Given the description of an element on the screen output the (x, y) to click on. 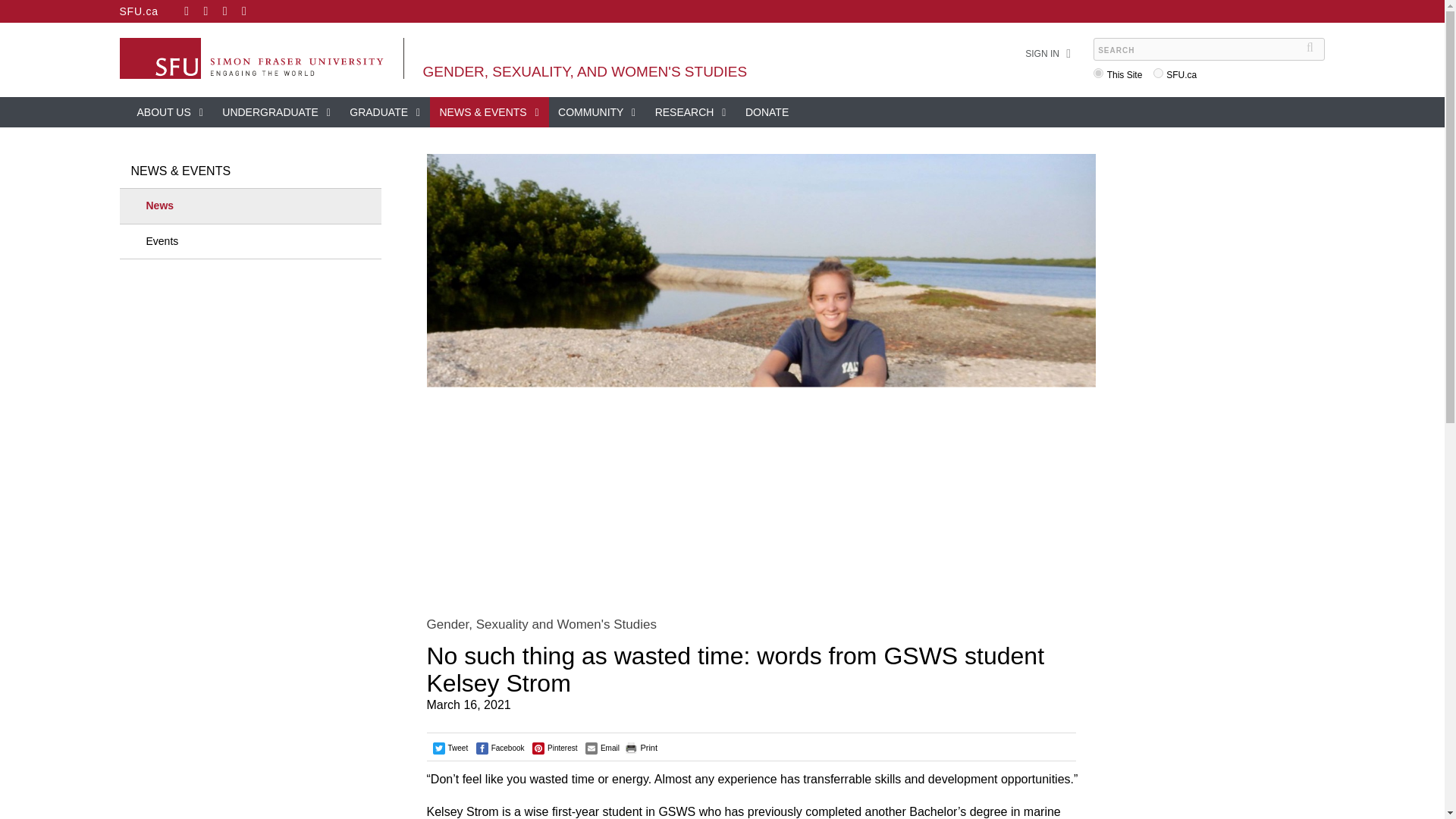
site (1098, 72)
UNDERGRADUATE (276, 112)
SIGN IN (1042, 53)
ABOUT US (170, 112)
SFU.ca (138, 10)
sfu (1158, 72)
GENDER, SEXUALITY, AND WOMEN'S STUDIES (585, 71)
